Given the description of an element on the screen output the (x, y) to click on. 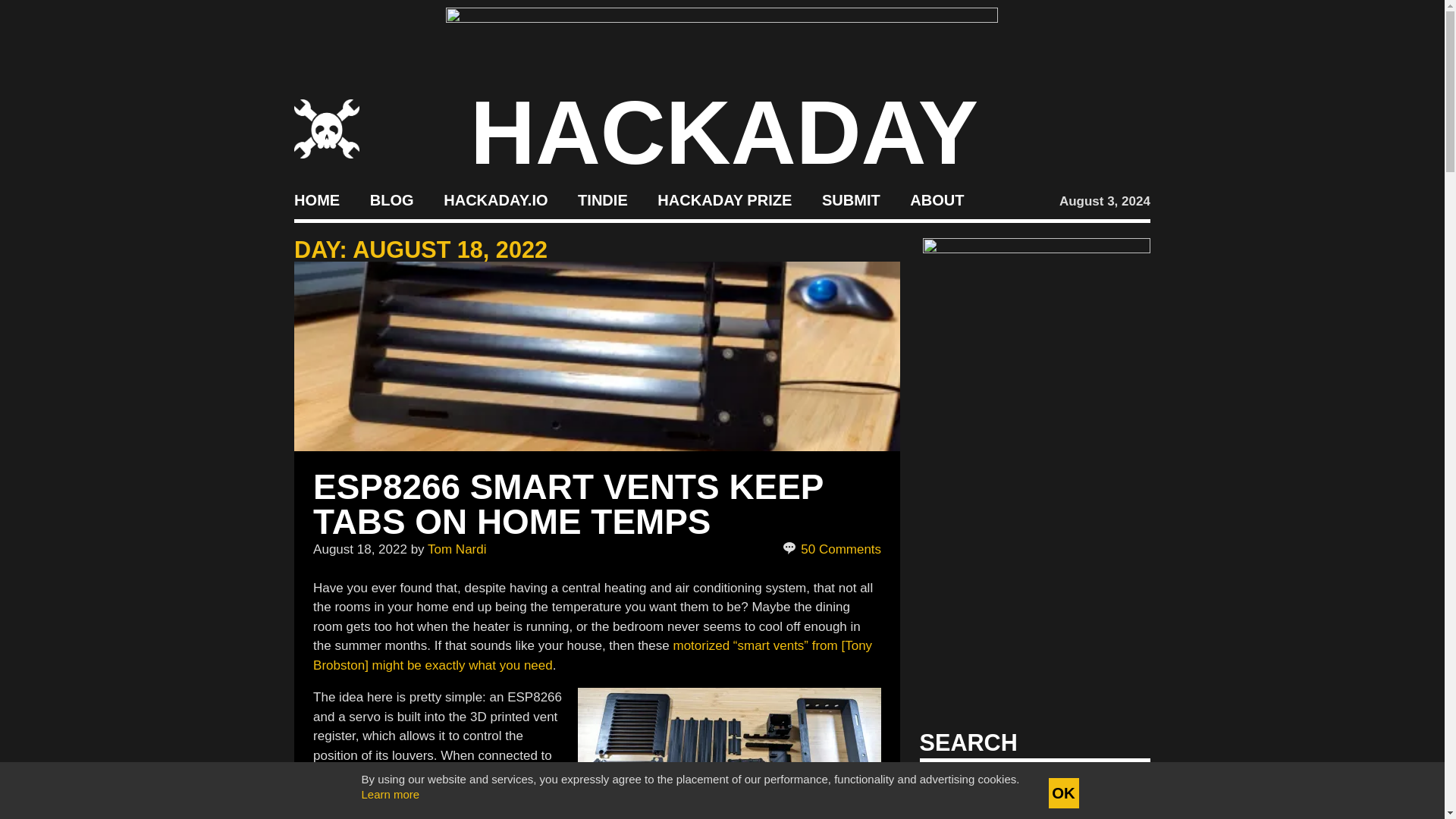
HACKADAY PRIZE (725, 200)
Build Something that Matters (725, 200)
HACKADAY.IO (495, 200)
Tom Nardi (457, 548)
Search (1115, 787)
HACKADAY (724, 131)
August 18, 2022 (360, 548)
Posts by Tom Nardi (457, 548)
HOME (316, 200)
Search (1115, 787)
SUBMIT (851, 200)
August 18, 2022 - 4:00 am (360, 548)
50 Comments (832, 549)
ABOUT (936, 200)
TINDIE (602, 200)
